Given the description of an element on the screen output the (x, y) to click on. 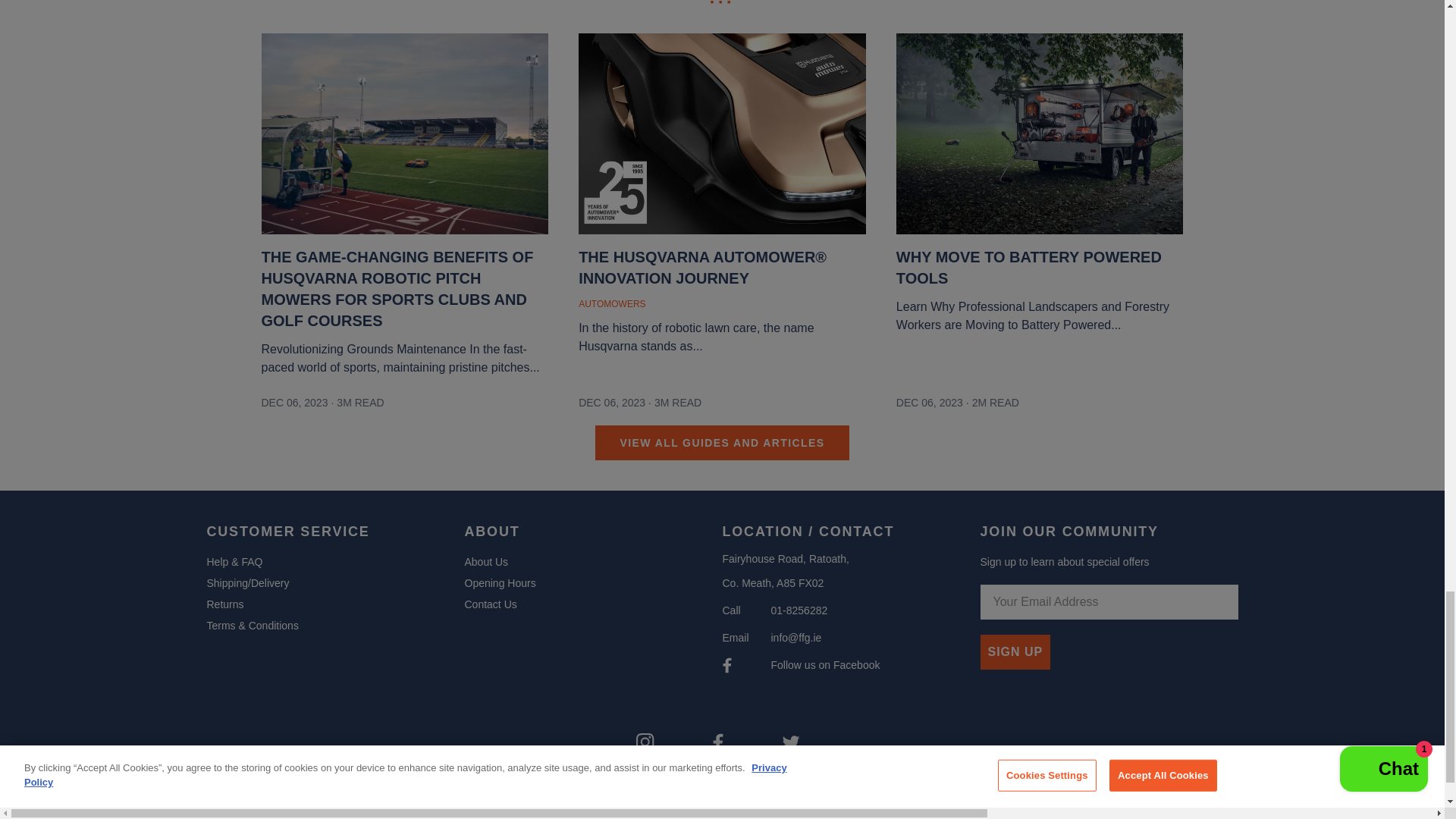
Call Us on 01-8256282 (798, 610)
News Translation missing: en.blogs.general.tagged Automowers (612, 304)
Why Move to Battery Powered Tools (1039, 139)
Why Move to Battery Powered Tools (1039, 290)
Follow us on Facebook (824, 664)
